Given the description of an element on the screen output the (x, y) to click on. 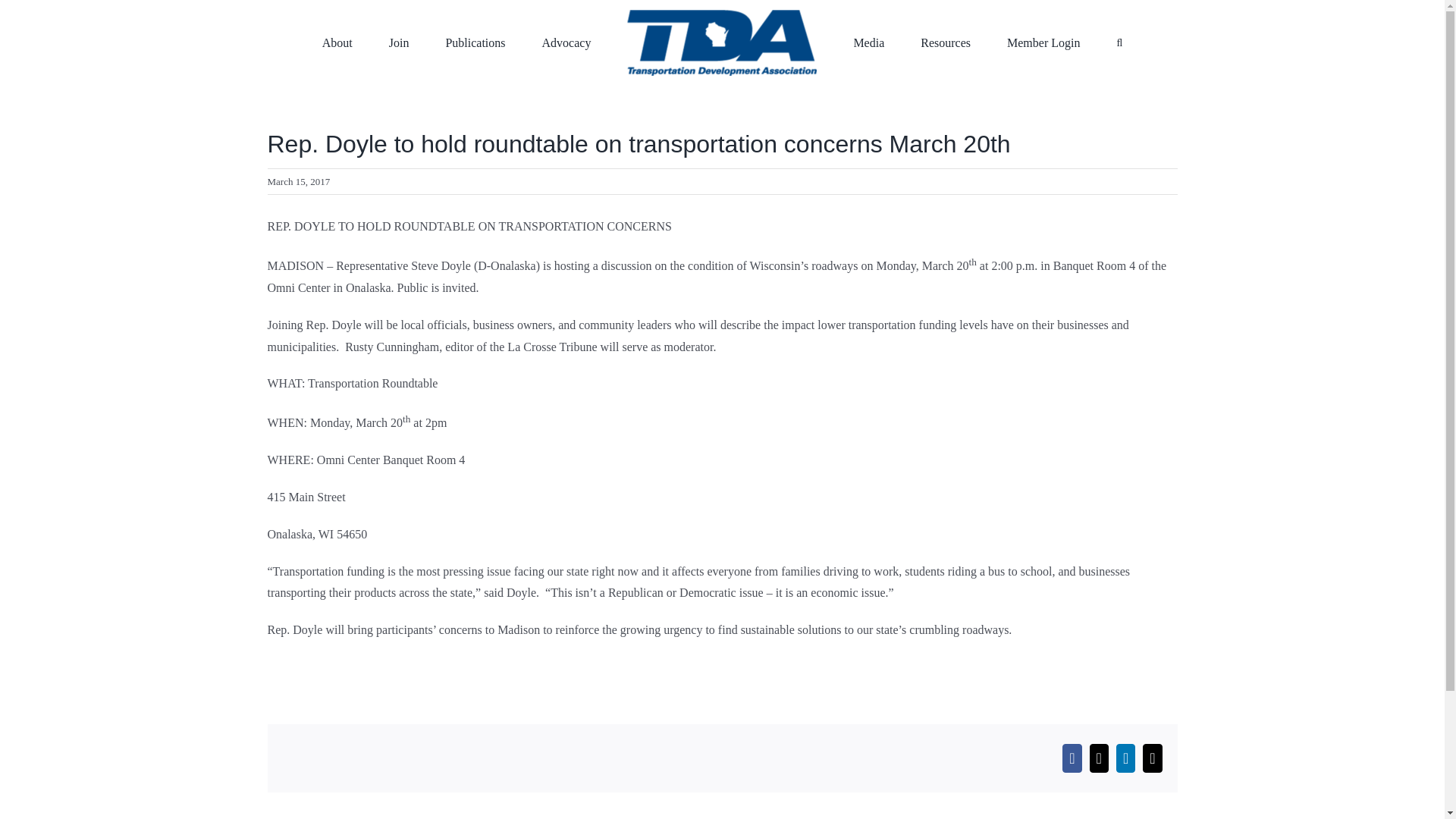
Member Login (1043, 41)
Publications (475, 41)
